Given the description of an element on the screen output the (x, y) to click on. 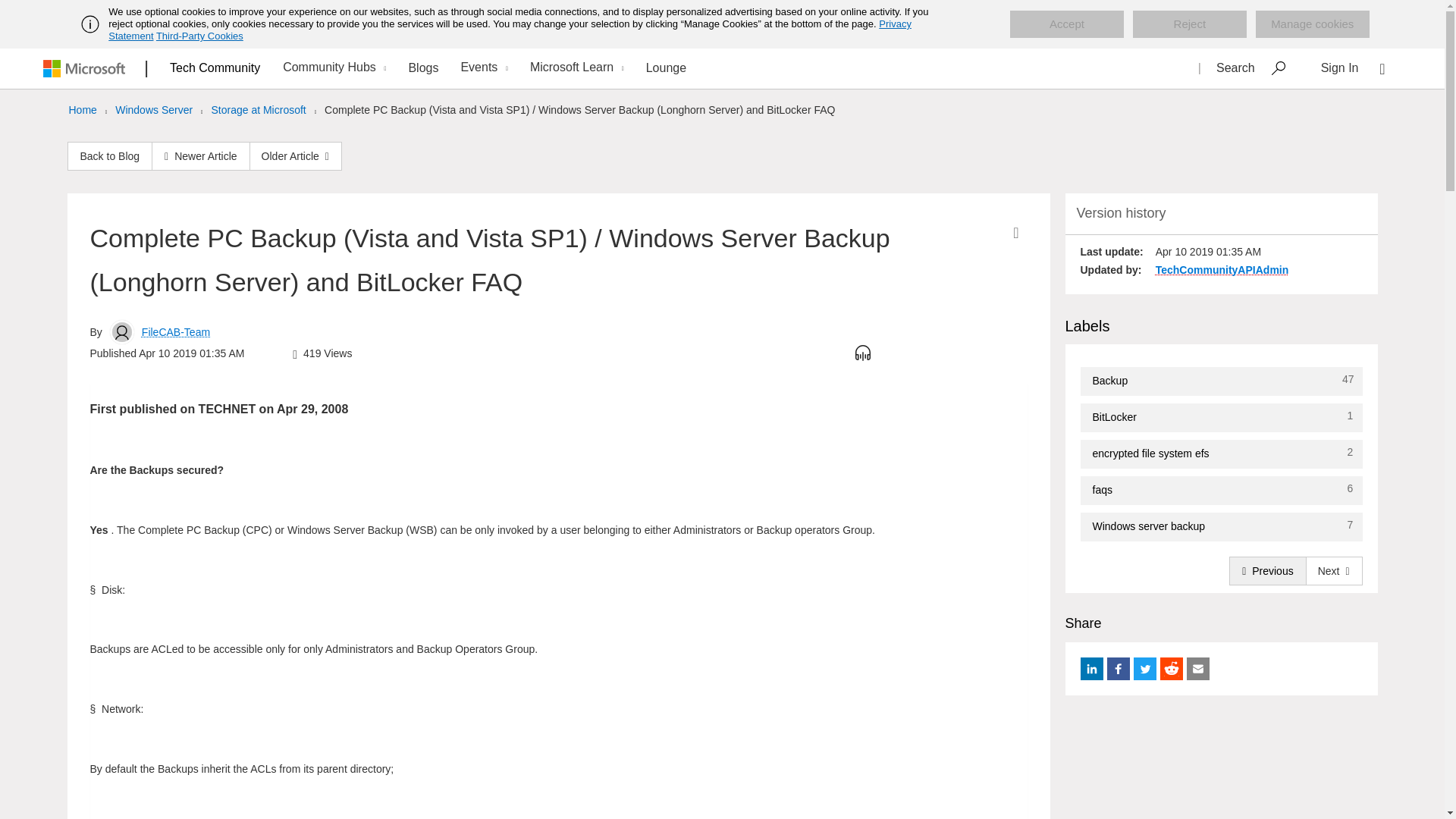
Privacy Statement (509, 29)
Reject (1189, 23)
Accept (1067, 23)
Tech Community (215, 67)
Community Hubs (332, 67)
Manage cookies (1312, 23)
Third-Party Cookies (199, 35)
